Given the description of an element on the screen output the (x, y) to click on. 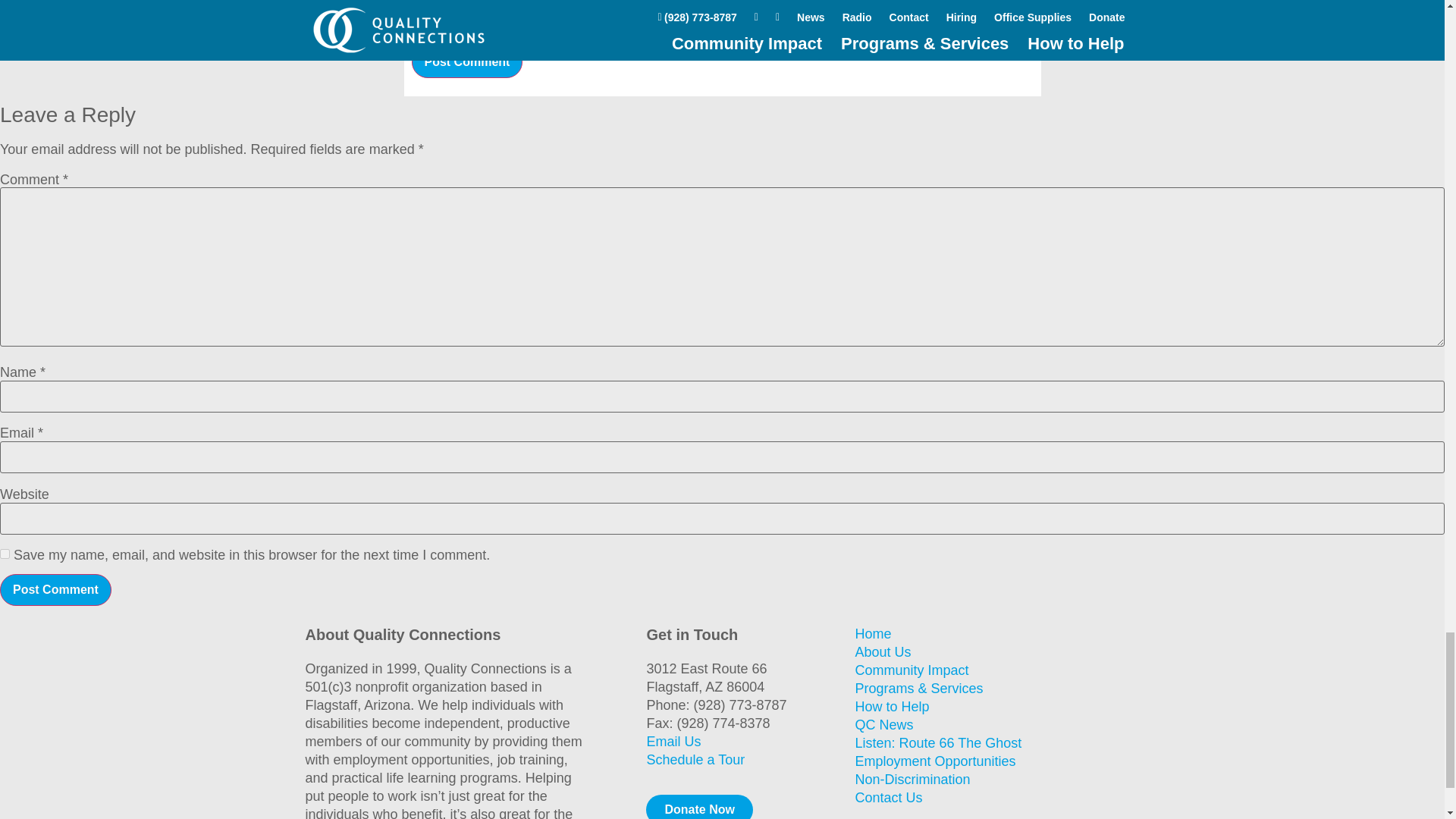
yes (415, 26)
Post Comment (466, 61)
yes (5, 553)
Post Comment (56, 590)
